Given the description of an element on the screen output the (x, y) to click on. 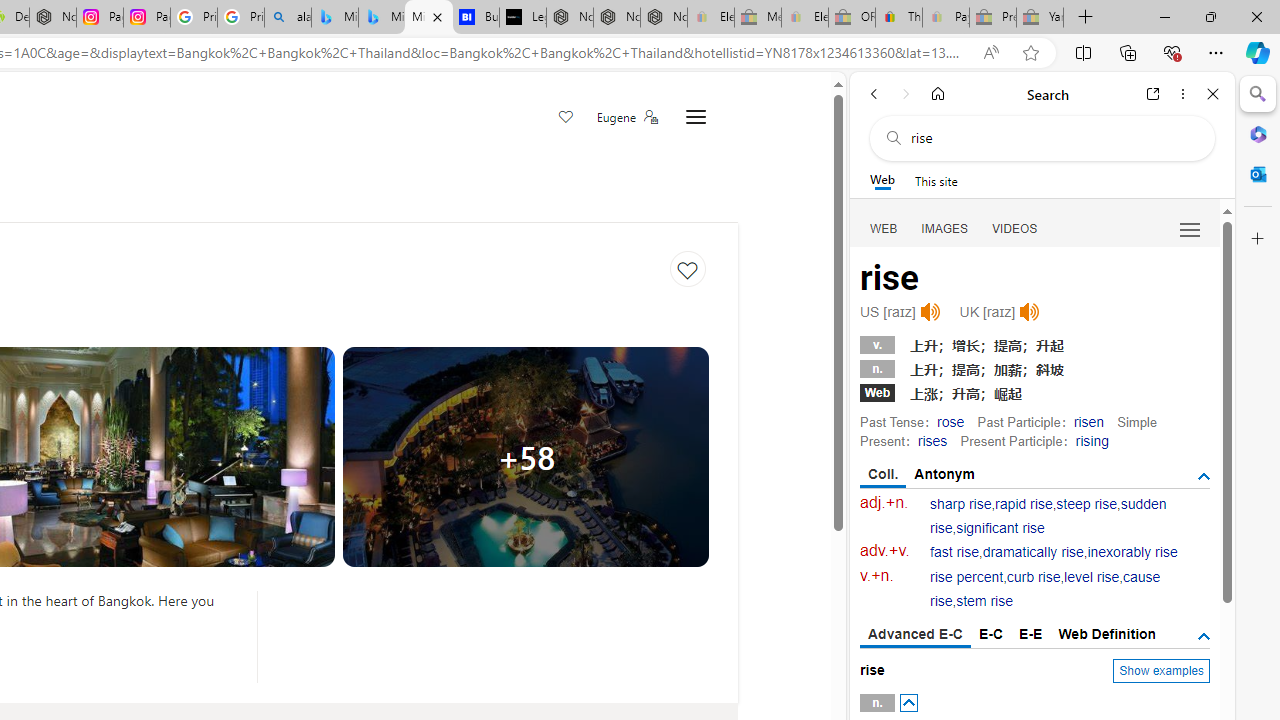
rapid rise (1023, 503)
AutomationID: tgsb (1203, 476)
curb rise (1033, 577)
rise percent (966, 577)
rising (1091, 440)
Web Definition (1106, 633)
